Given the description of an element on the screen output the (x, y) to click on. 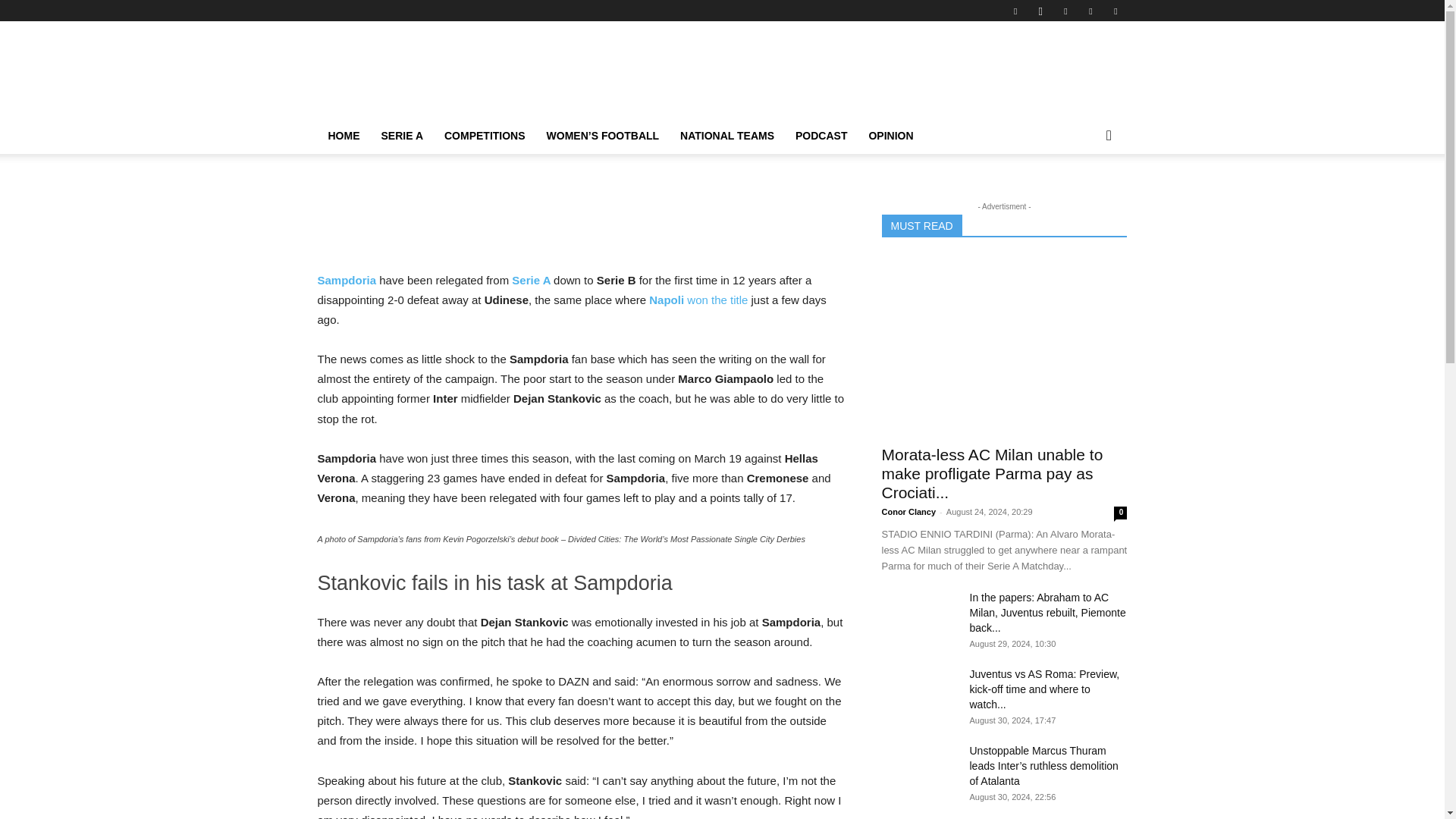
Facebook (1015, 10)
Twitter (1114, 10)
Instagram (1040, 10)
Mail (1065, 10)
TikTok (1090, 10)
Euan Burns (349, 140)
